Given the description of an element on the screen output the (x, y) to click on. 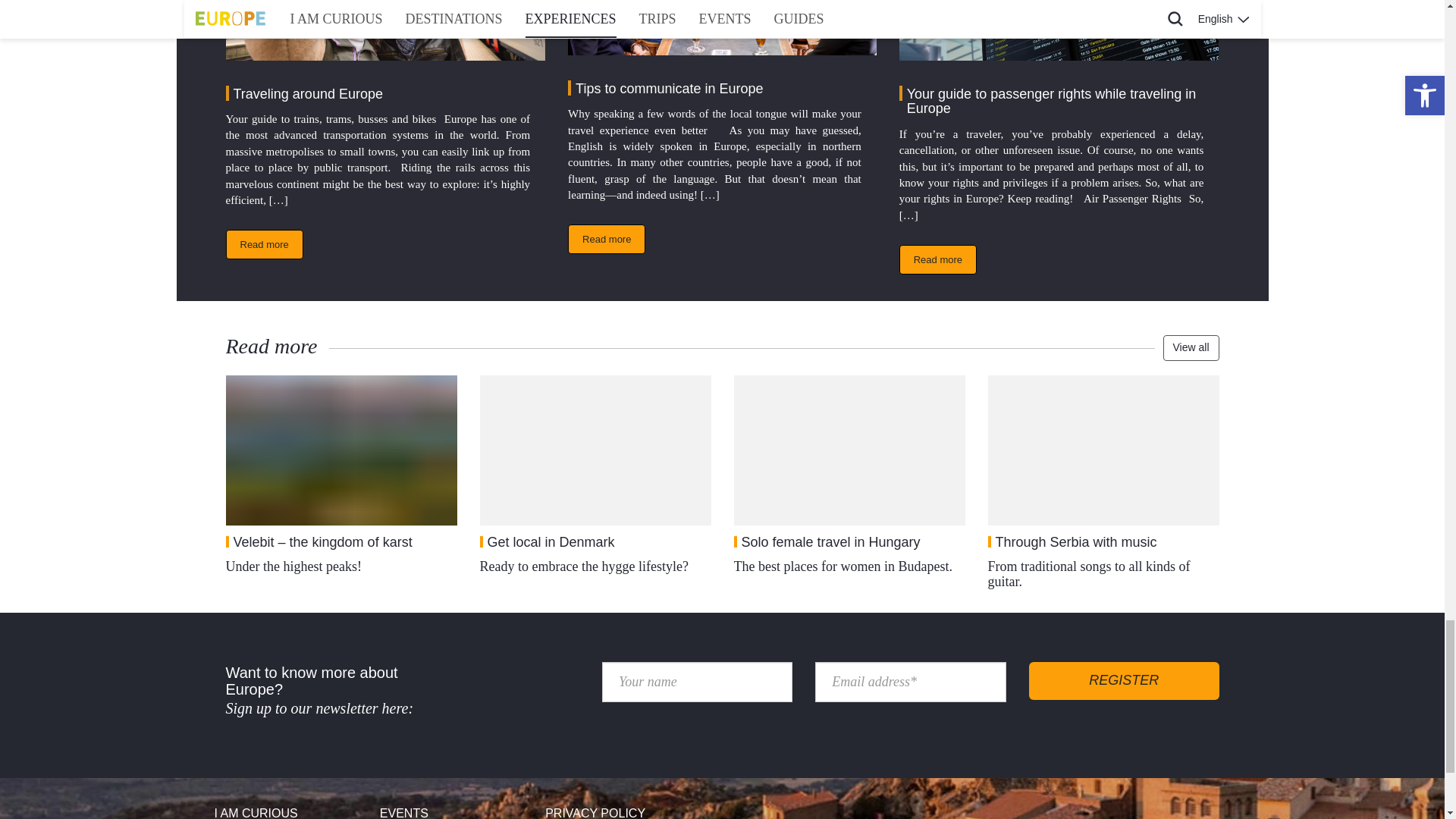
EVENTS (457, 809)
I AM CURIOUS (291, 809)
PRIVACY POLICY (621, 809)
Register (1124, 680)
